Given the description of an element on the screen output the (x, y) to click on. 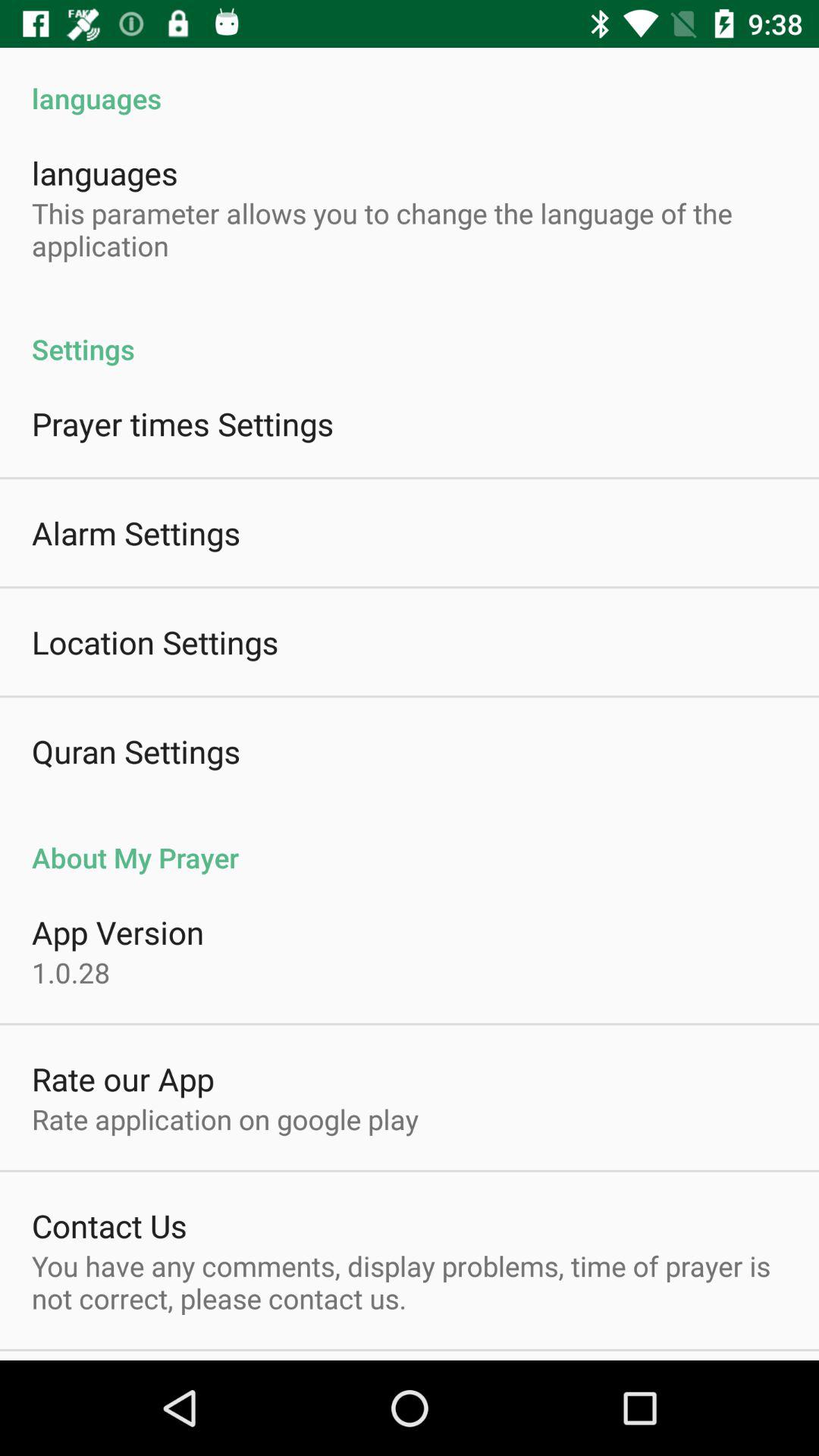
choose item above quran settings (154, 641)
